Given the description of an element on the screen output the (x, y) to click on. 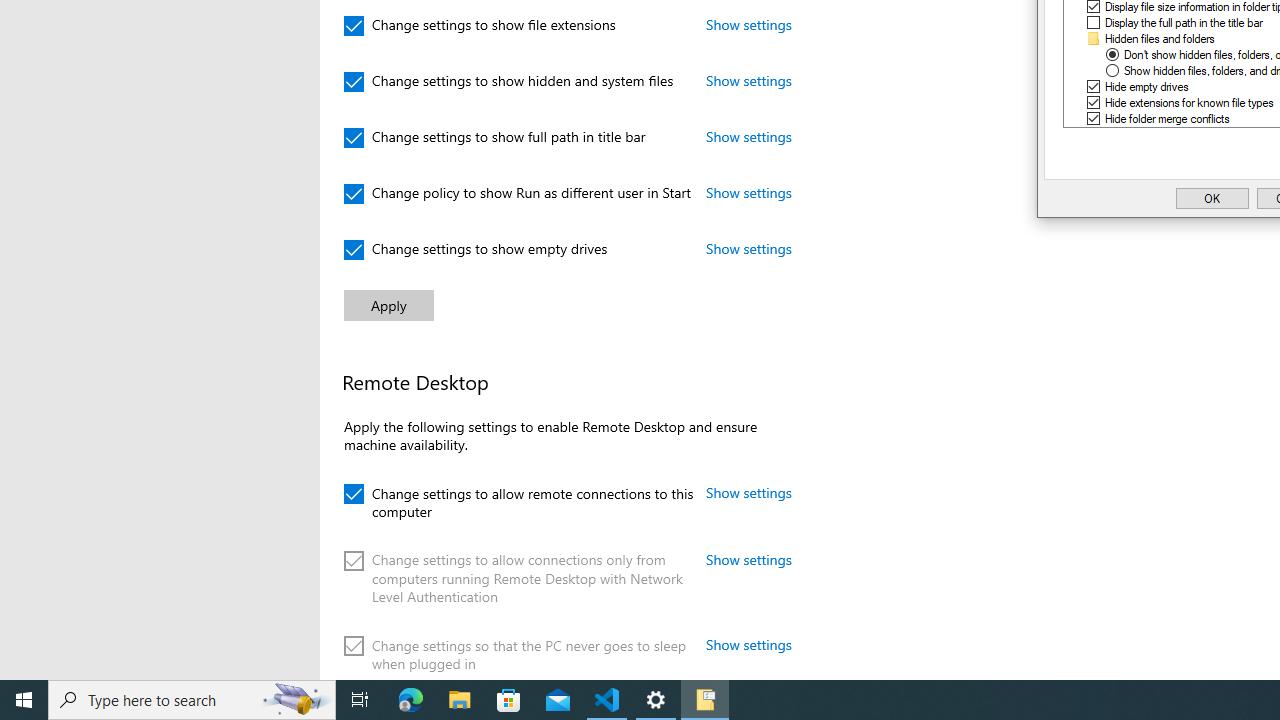
Microsoft Store (509, 699)
Settings - 1 running window (656, 699)
